Given the description of an element on the screen output the (x, y) to click on. 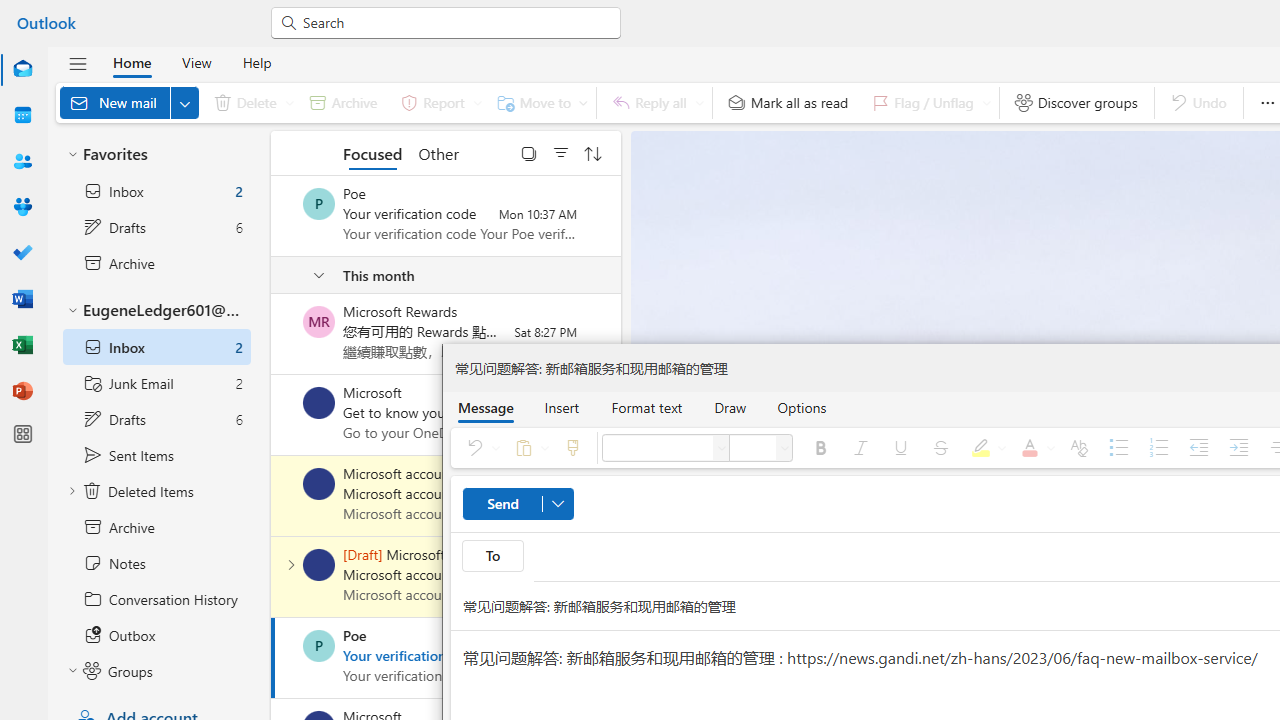
Increase indent (1238, 447)
Sorted: By Date (593, 152)
Filter (561, 152)
To Do (22, 252)
Hide navigation pane (77, 63)
Microsoft account team (319, 564)
Message (485, 407)
PowerPoint (22, 391)
Format text (646, 407)
Discover groups (1076, 102)
Home (132, 61)
Decrease indent (1198, 447)
To Do (22, 254)
Microsoft Rewards (319, 321)
